Given the description of an element on the screen output the (x, y) to click on. 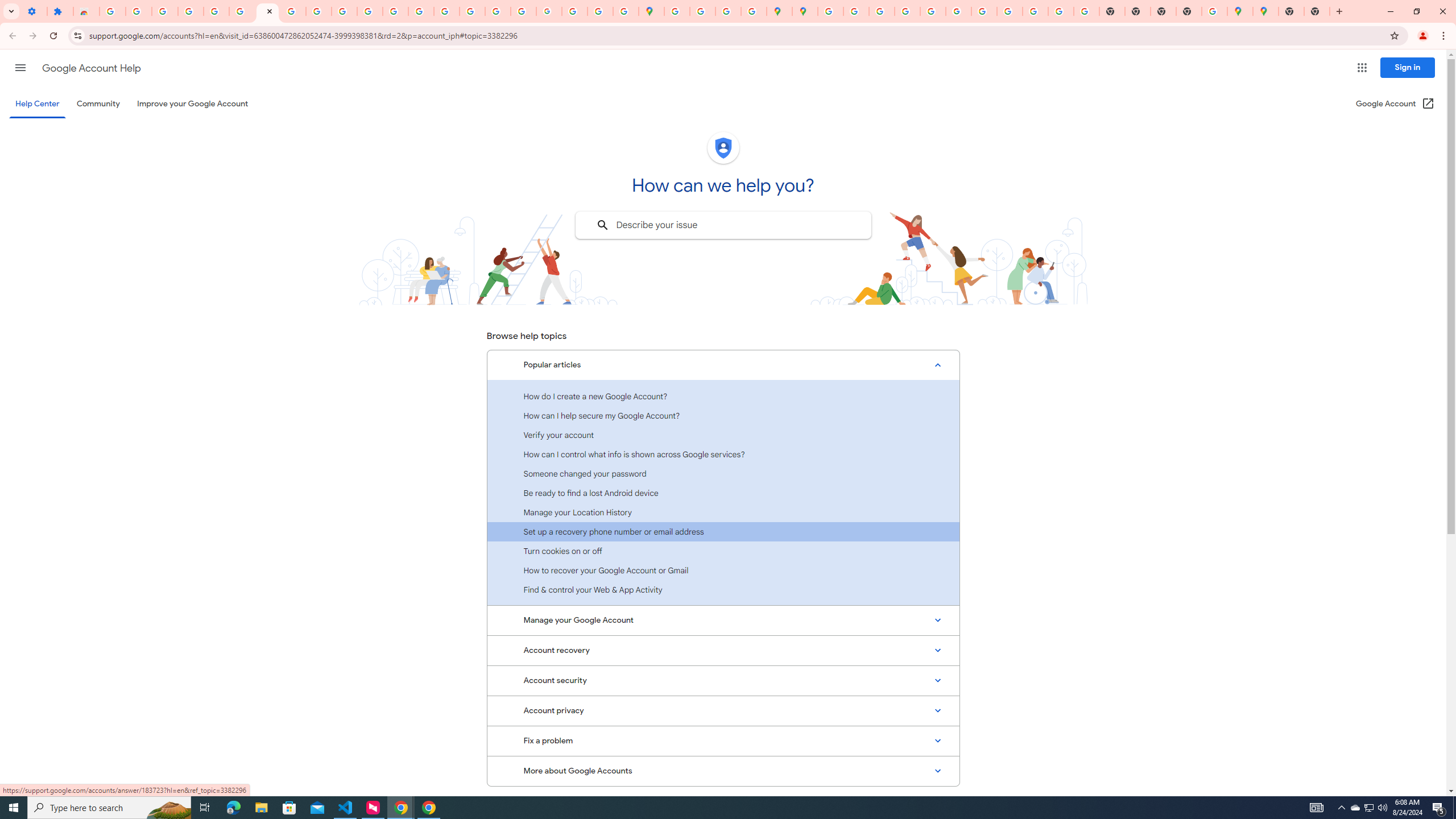
Delete photos & videos - Computer - Google Photos Help (138, 11)
Someone changed your password (722, 473)
How do I create a new Google Account? (722, 396)
Privacy Help Center - Policies Help (446, 11)
More about Google Accounts (722, 771)
Describe your issue to find information that might help you. (722, 225)
Improve your Google Account (192, 103)
